Given the description of an element on the screen output the (x, y) to click on. 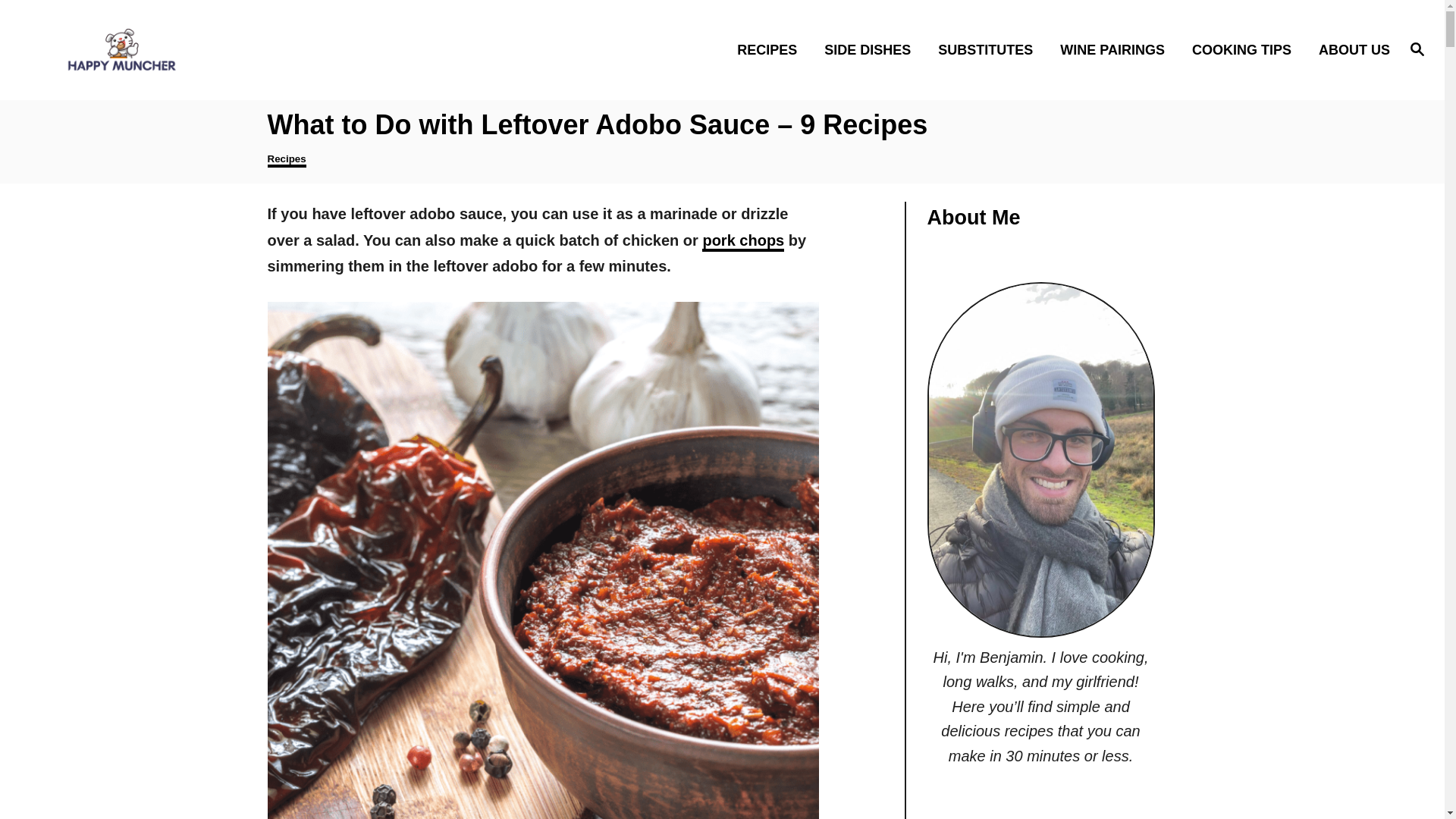
ABOUT US (1349, 49)
pork chops (742, 241)
SIDE DISHES (871, 49)
RECIPES (771, 49)
WINE PAIRINGS (1116, 49)
pork chops (742, 241)
Magnifying Glass (1416, 48)
Happy Muncher (204, 49)
Recipes (285, 160)
SUBSTITUTES (989, 49)
